Given the description of an element on the screen output the (x, y) to click on. 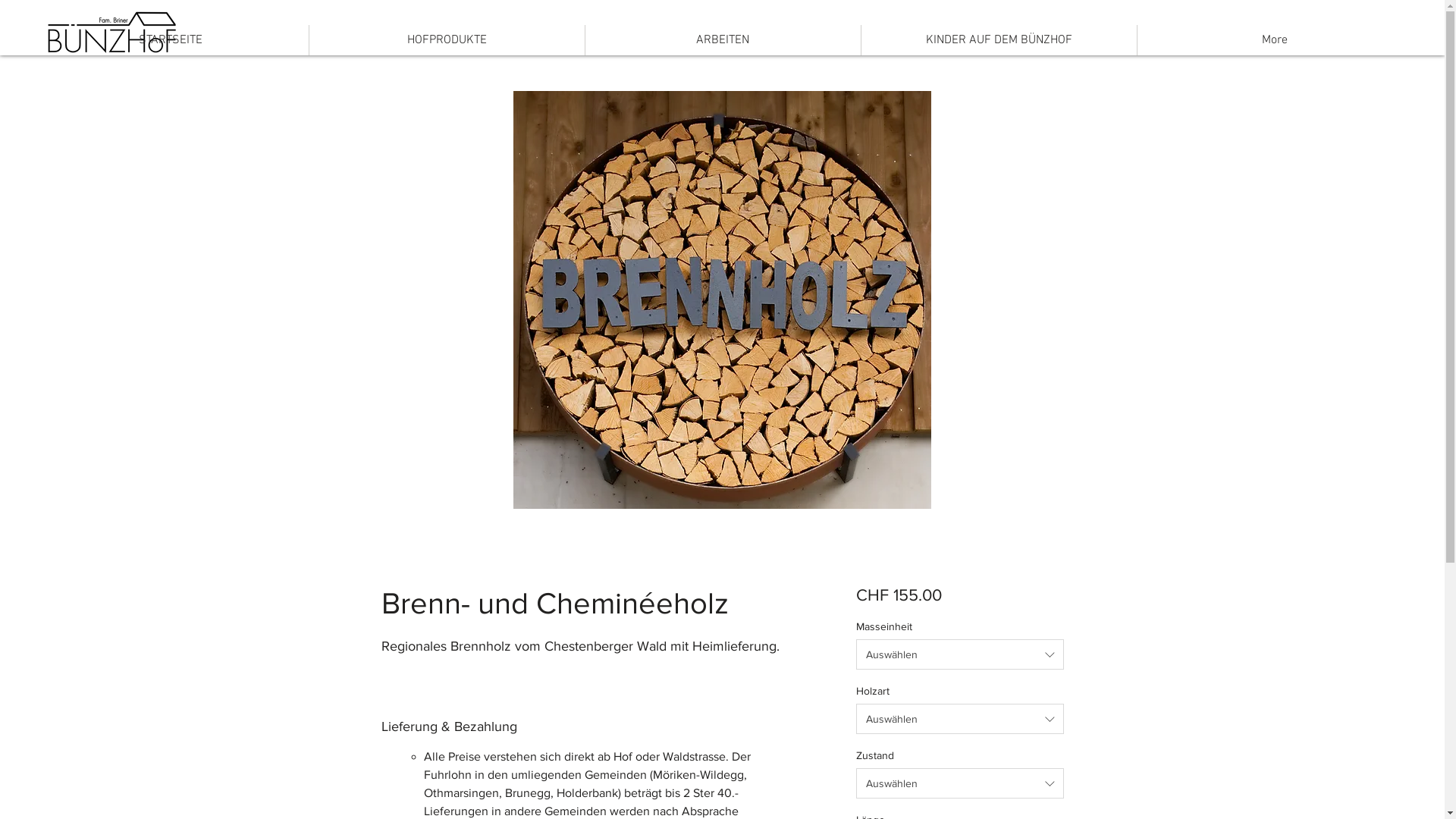
ARBEITEN Element type: text (722, 40)
STARTSEITE Element type: text (169, 40)
HOFPRODUKTE Element type: text (446, 40)
